Given the description of an element on the screen output the (x, y) to click on. 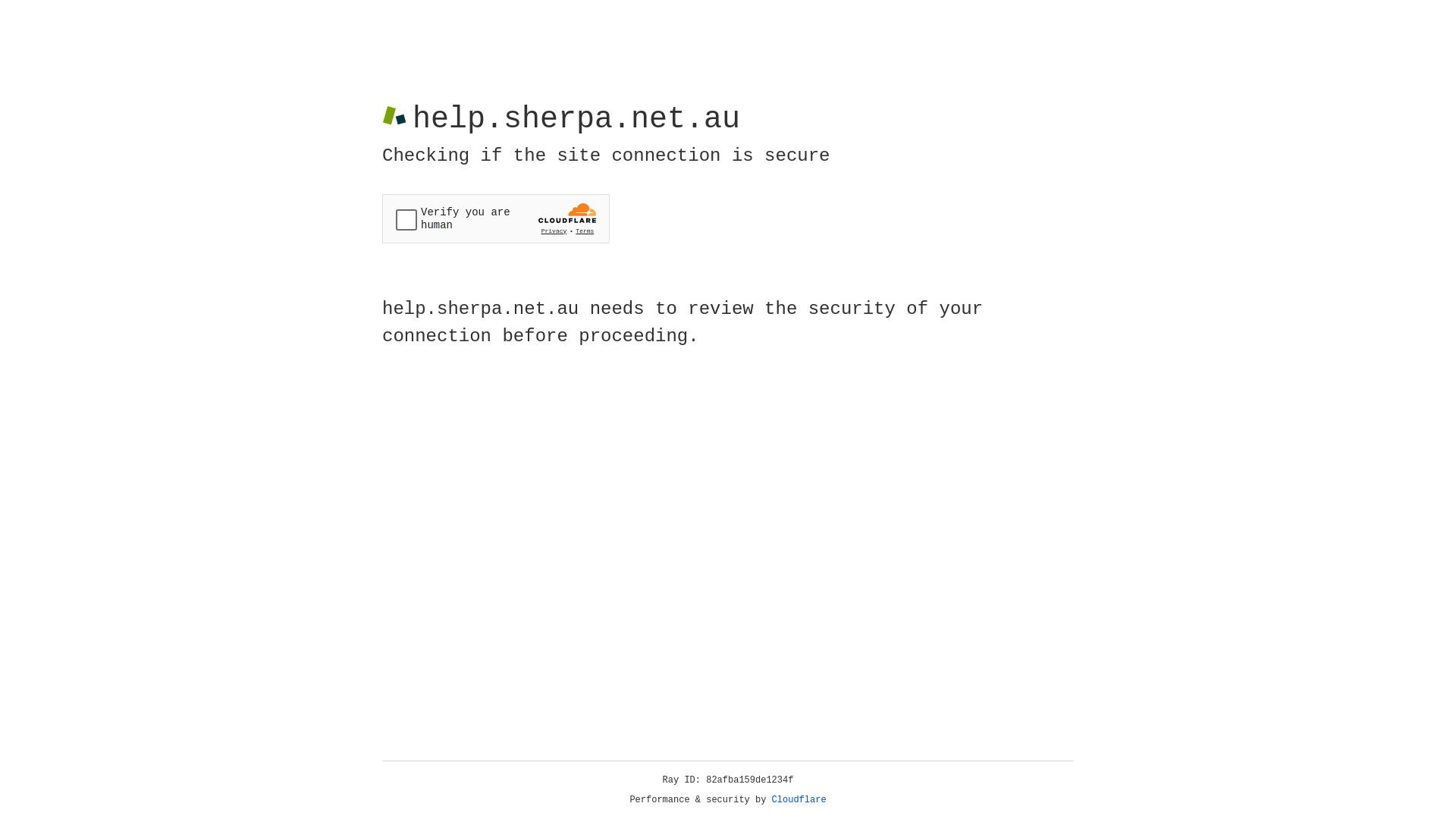
Widget containing a Cloudflare security challenge Element type: hover (495, 218)
Cloudflare Element type: text (798, 799)
